Given the description of an element on the screen output the (x, y) to click on. 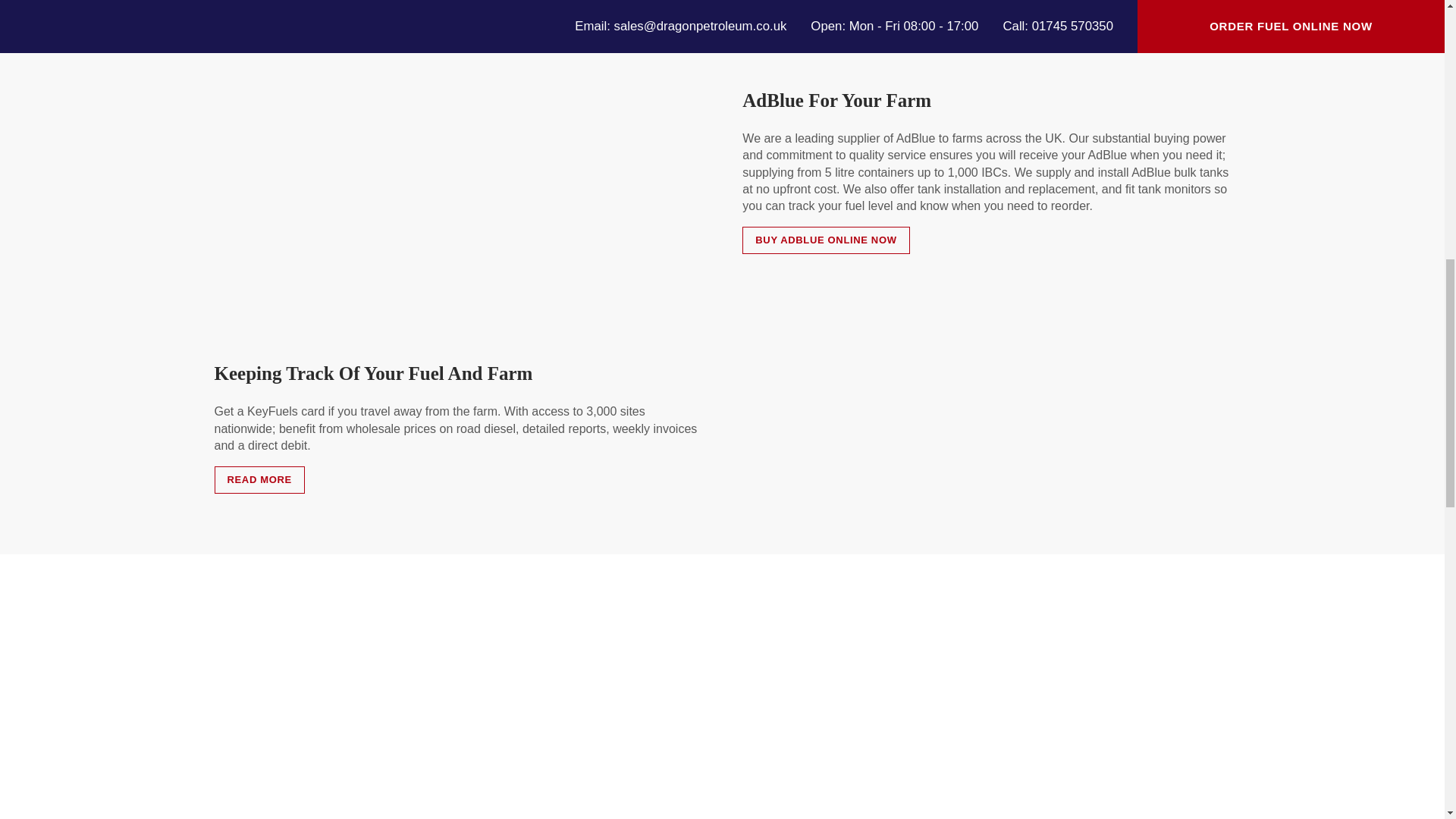
READ MORE (259, 479)
BUY ADBLUE ONLINE NOW (825, 239)
